Given the description of an element on the screen output the (x, y) to click on. 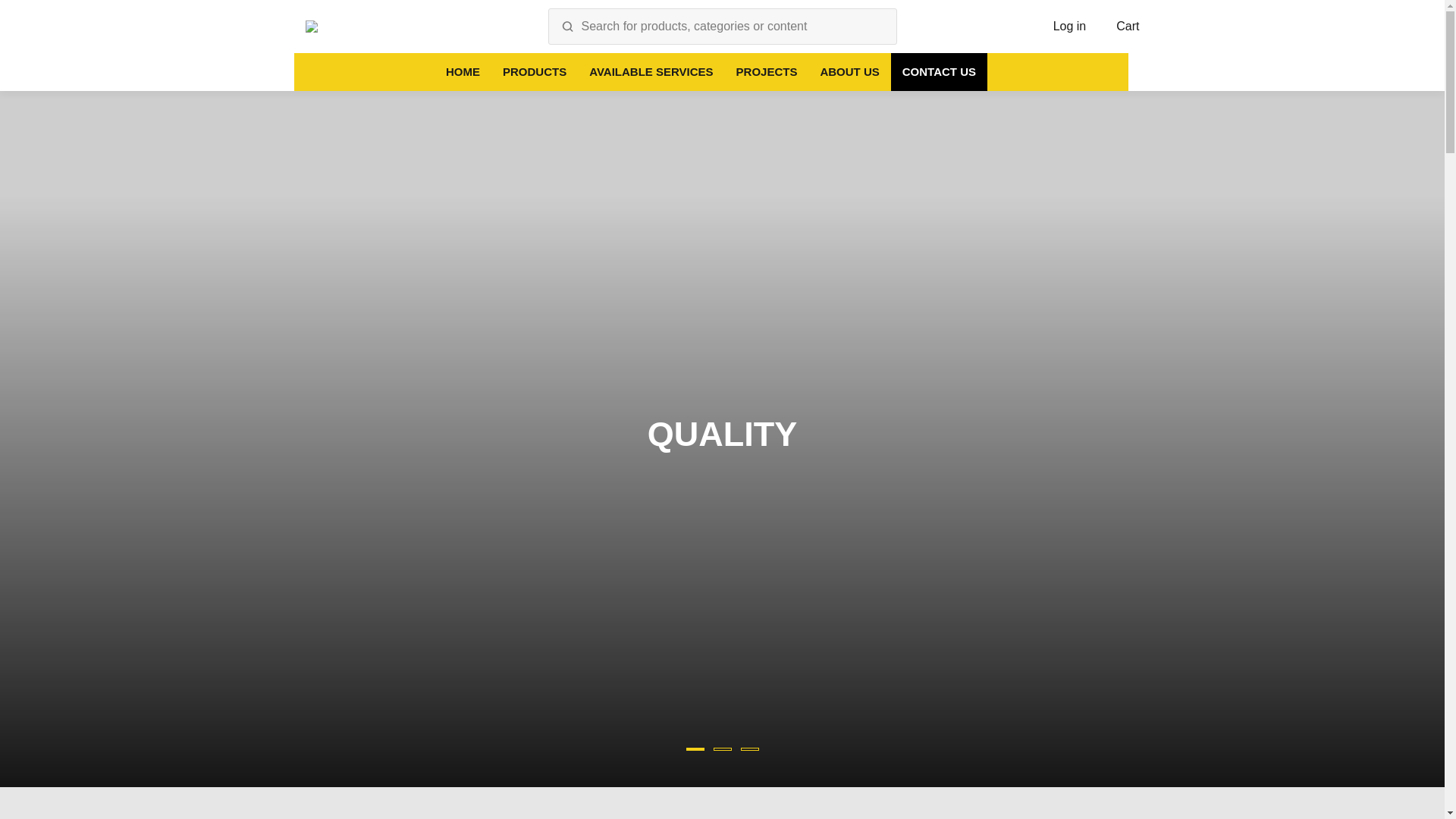
AVAILABLE SERVICES (650, 71)
Log in (1069, 26)
CONTACT US (939, 71)
HOME (462, 71)
ABOUT US (848, 71)
PROJECTS (767, 71)
PRODUCTS (535, 71)
